Given the description of an element on the screen output the (x, y) to click on. 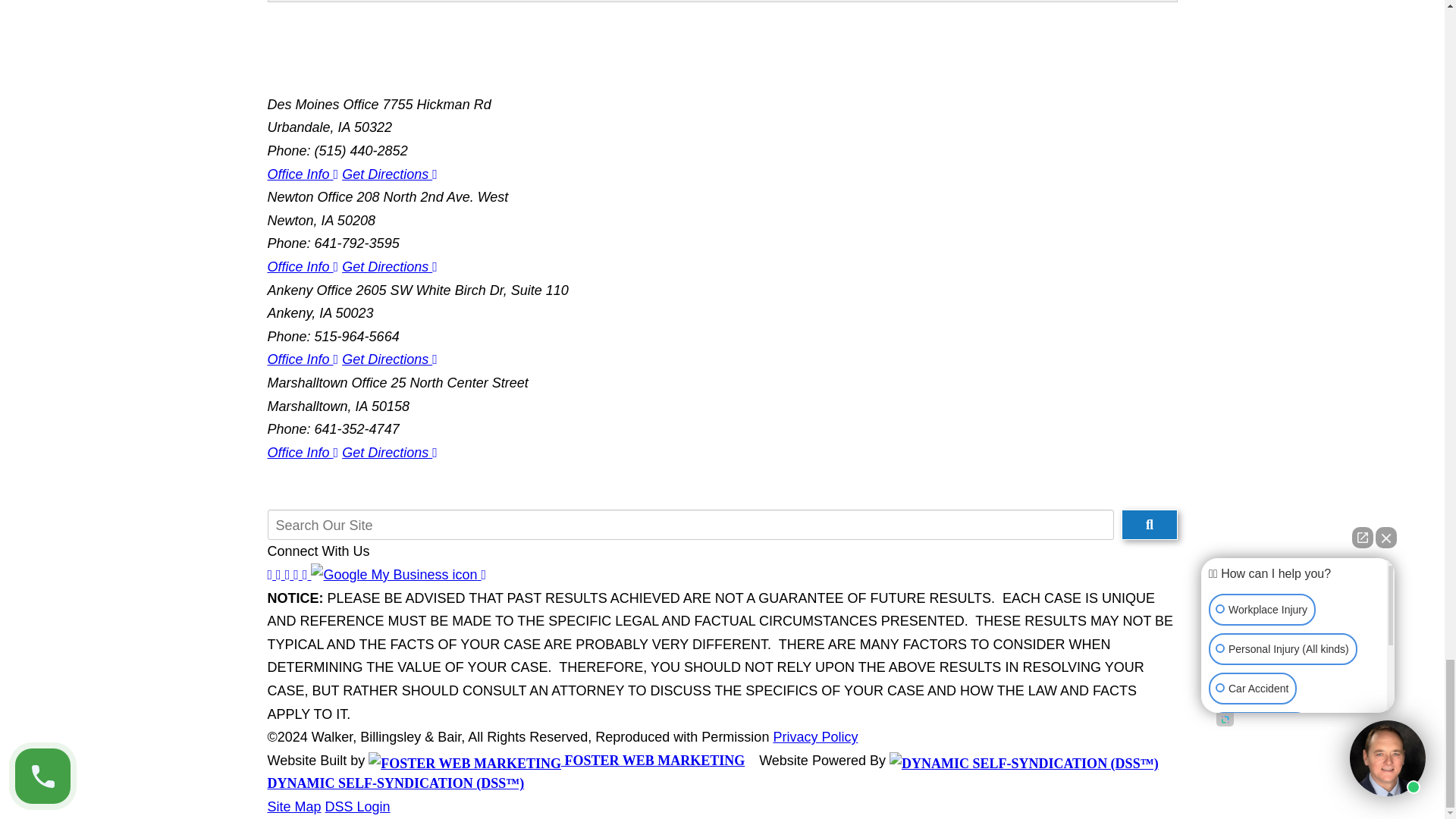
Search (1148, 524)
